Given the description of an element on the screen output the (x, y) to click on. 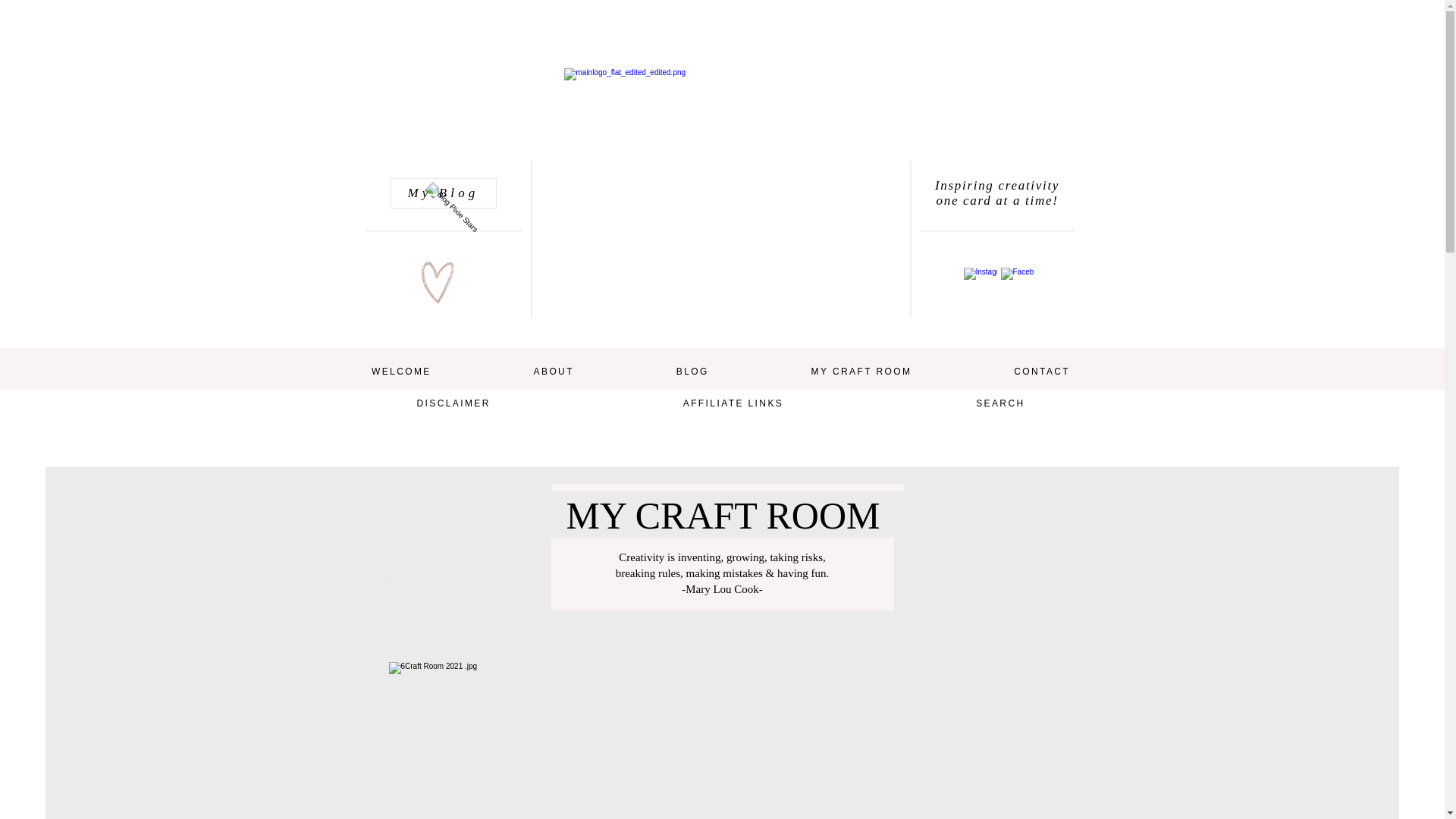
BLOG (692, 371)
WELCOME (400, 371)
one card at a time! (997, 200)
MY CRAFT ROOM (861, 371)
AFFILIATE LINKS (732, 403)
Inspiring creativity (996, 185)
SEARCH (1000, 403)
ABOUT (553, 371)
DISCLAIMER (453, 403)
CONTACT (1041, 371)
My Blog (443, 193)
